Given the description of an element on the screen output the (x, y) to click on. 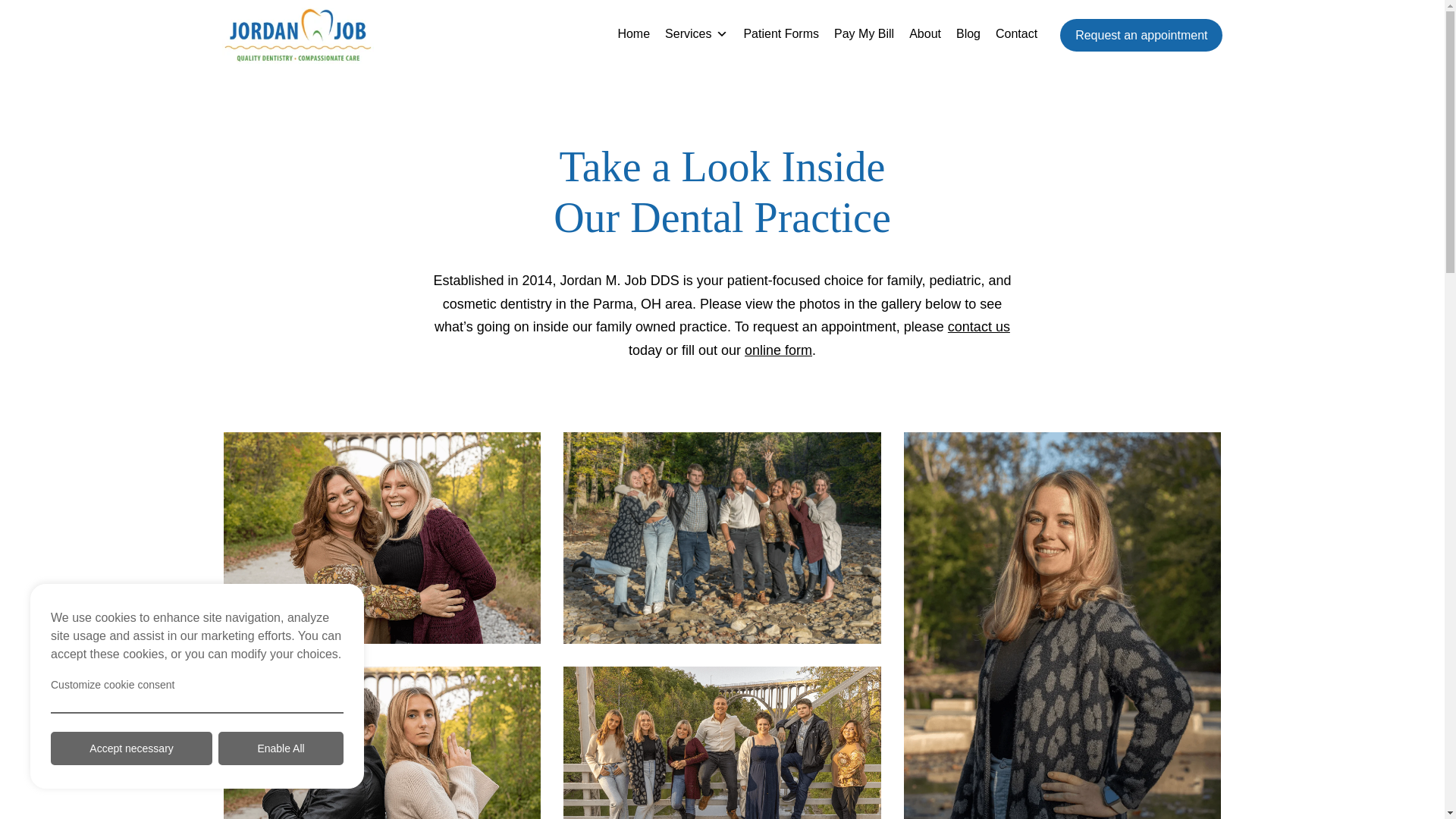
Pay My Bill (864, 35)
Home (634, 35)
Contact (1016, 35)
Accept necessary (131, 748)
About (925, 35)
family-dentist-in-ohio (382, 742)
Services (696, 35)
Patient Forms (781, 35)
Customize cookie consent (196, 684)
Request an appointment (1141, 34)
dr-job-team (721, 742)
Enable All (280, 748)
Blog (968, 35)
dentistry-in-parma-ohio (382, 537)
parma-ohio-dentist (721, 537)
